Given the description of an element on the screen output the (x, y) to click on. 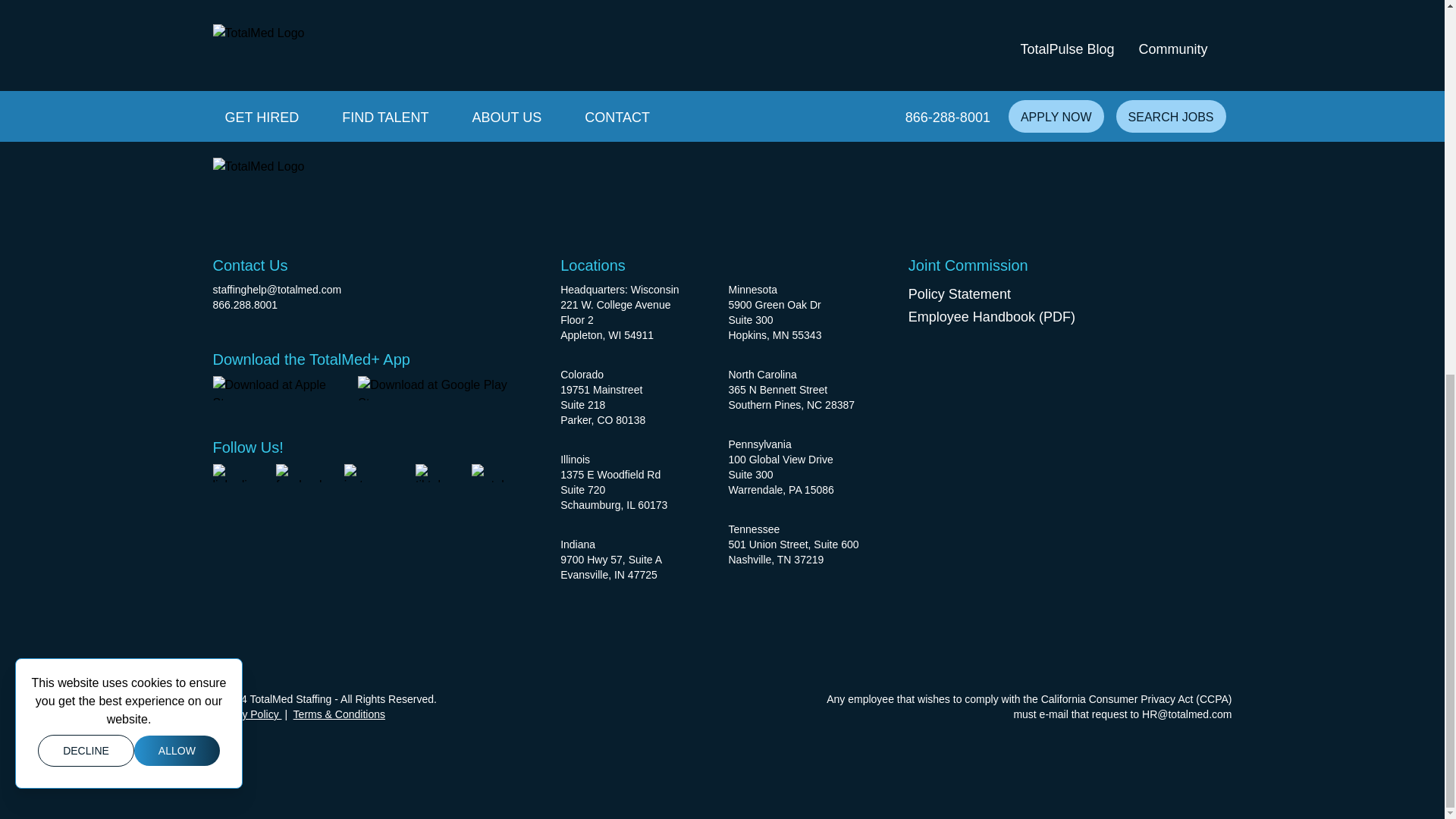
facebook (301, 473)
youtube (494, 473)
linkedin (234, 473)
tiktok (433, 473)
instagram (370, 473)
Privacy Policy (246, 714)
